Given the description of an element on the screen output the (x, y) to click on. 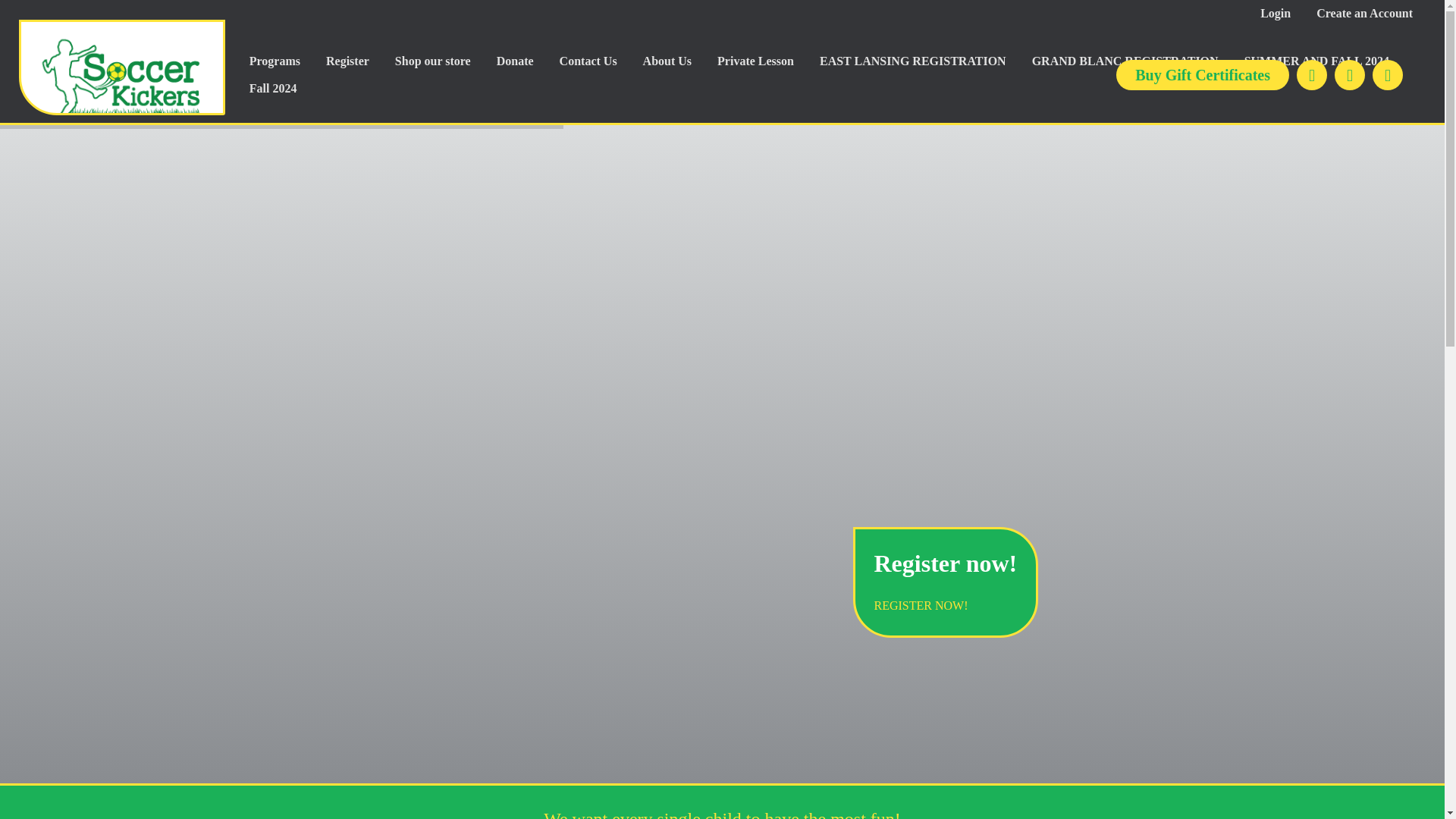
Soccer Kickers (121, 67)
Register (347, 61)
Shop our store (432, 61)
Buy Gift Certificates (1202, 74)
EAST LANSING REGISTRATION (912, 61)
REGISTER NOW! (920, 604)
Private Lesson (755, 61)
About Us (667, 61)
Fall 2024 (273, 88)
Programs (274, 61)
Create an Account (1363, 13)
Donate (514, 61)
GRAND BLANC REGISTRATION (1125, 61)
SUMMER AND FALL 2024 (1316, 61)
Login (1275, 13)
